Given the description of an element on the screen output the (x, y) to click on. 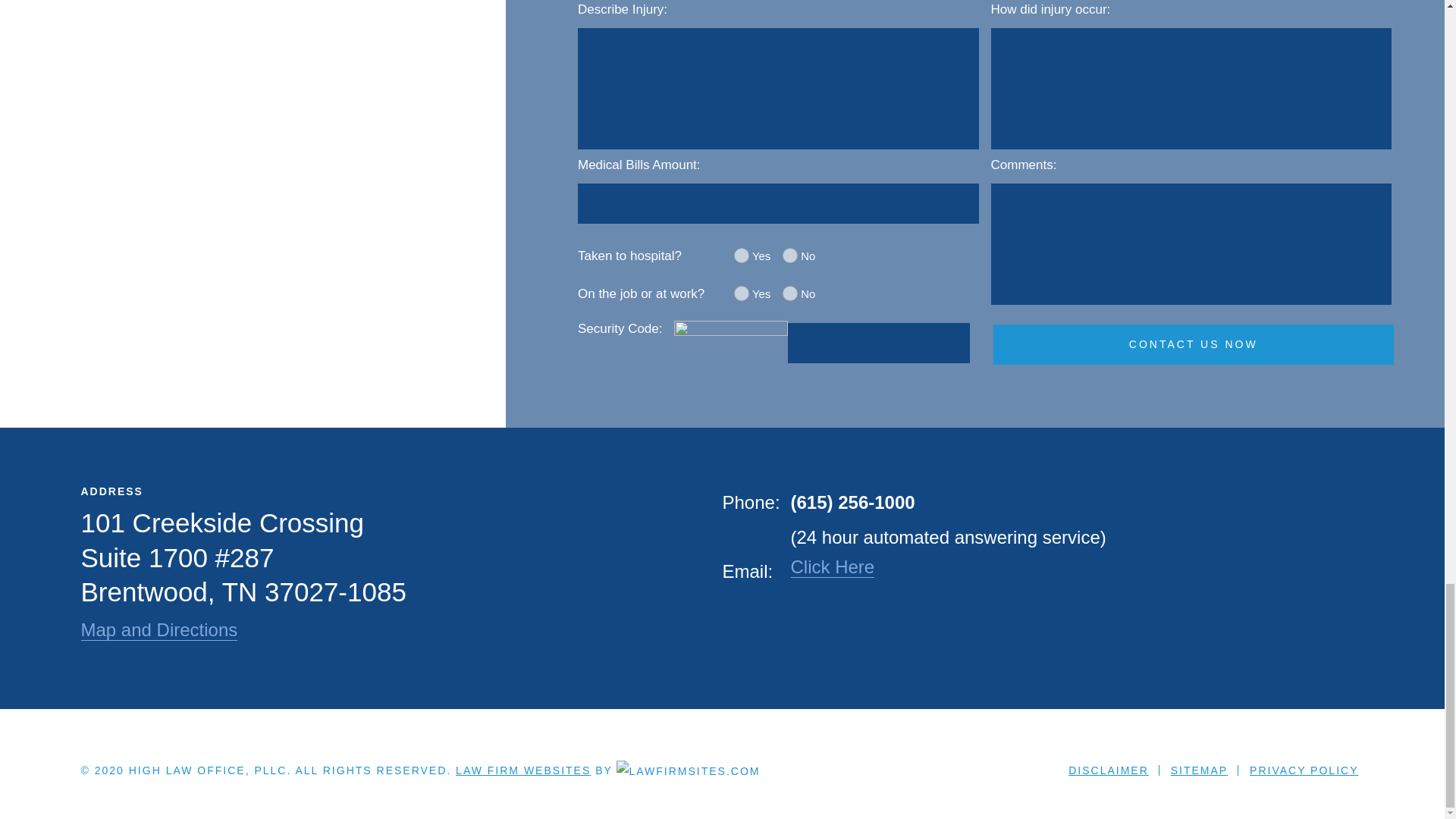
Yes (741, 293)
Yes (741, 255)
No (790, 293)
law firm websites (523, 770)
No (790, 255)
Contact Us Now (1193, 344)
